Given the description of an element on the screen output the (x, y) to click on. 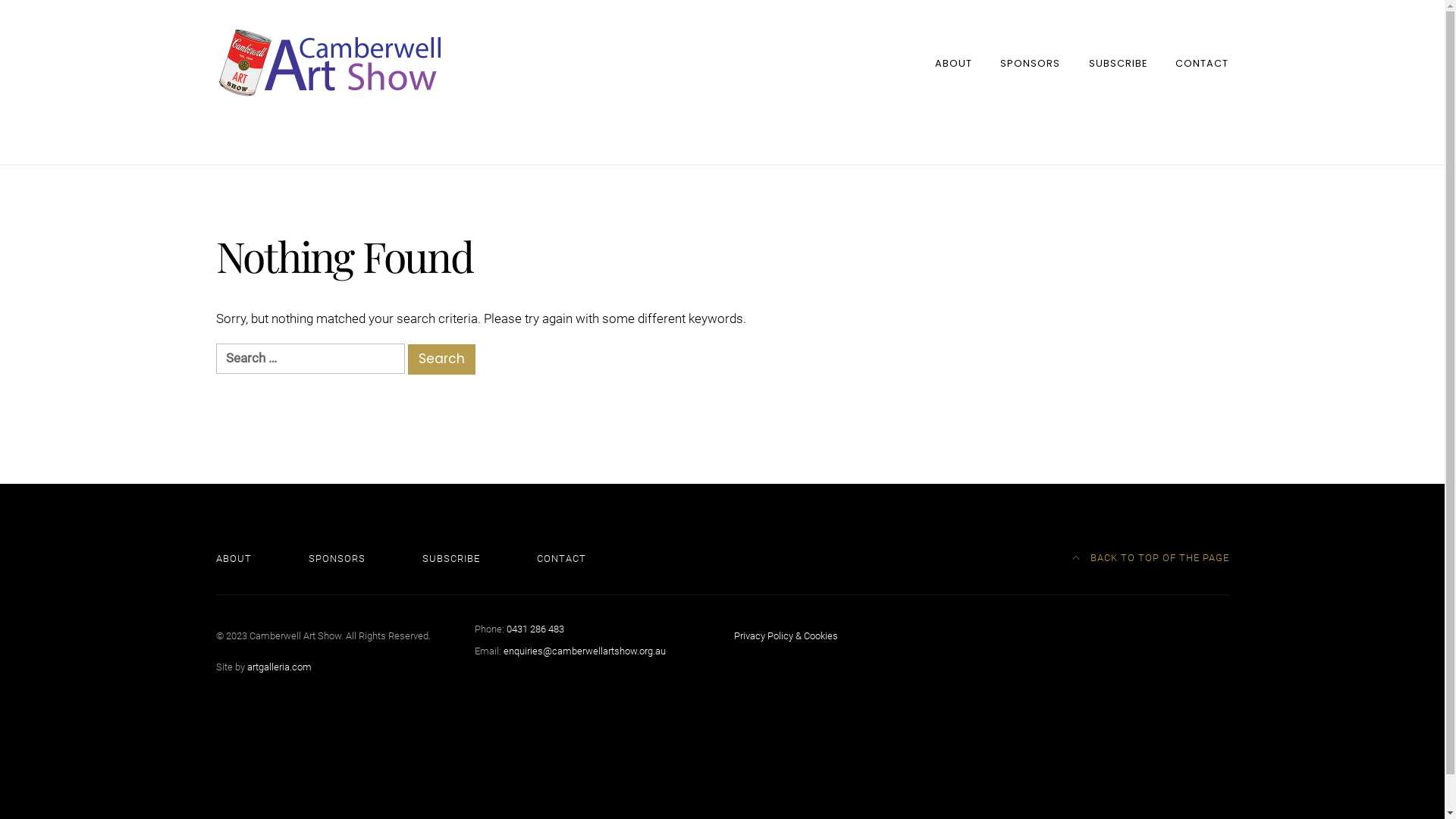
Search Element type: text (441, 359)
enquiries@camberwellartshow.org.au Element type: text (584, 650)
ABOUT Element type: text (953, 62)
CONTACT Element type: text (1201, 62)
ABOUT Element type: text (233, 558)
Privacy Policy & Cookies Element type: text (785, 635)
CONTACT Element type: text (561, 558)
SPONSORS Element type: text (1030, 62)
0431 286 483 Element type: text (535, 628)
SUBSCRIBE Element type: text (451, 558)
BACK TO TOP OF THE PAGE Element type: text (1150, 557)
artgalleria.com Element type: text (279, 666)
SPONSORS Element type: text (336, 558)
SUBSCRIBE Element type: text (1117, 62)
